Given the description of an element on the screen output the (x, y) to click on. 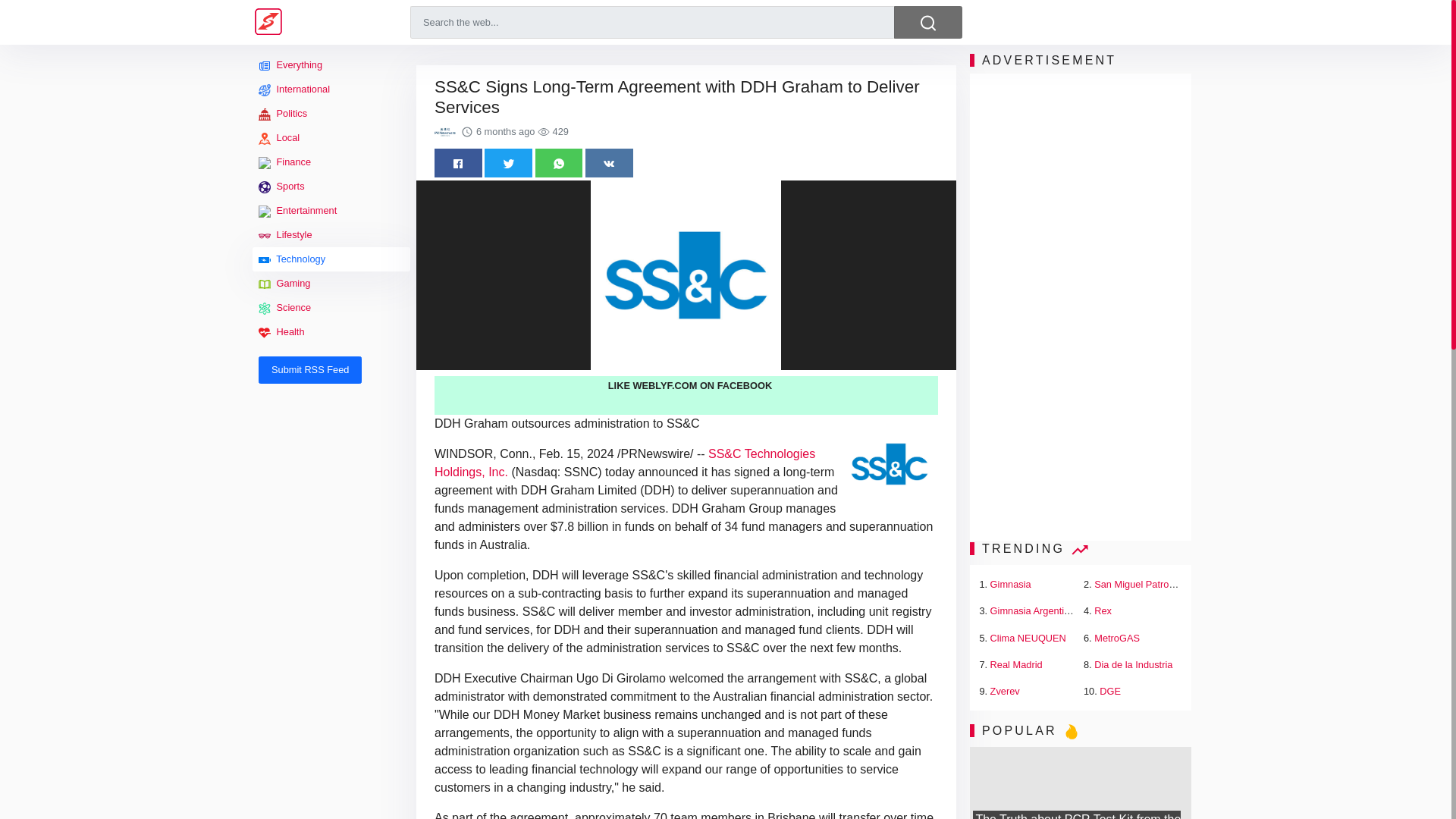
Lifestyle (330, 234)
Gimnasia (1010, 583)
San Miguel  Patronato (1141, 583)
Submit RSS Feed (310, 370)
Science (330, 307)
Gimnasia Argentinos jrs. (1043, 610)
Health (330, 331)
Real Madrid (1016, 664)
Send via Whatsapp (559, 162)
Gimnasia  Argentinos jrs. (1043, 610)
